Given the description of an element on the screen output the (x, y) to click on. 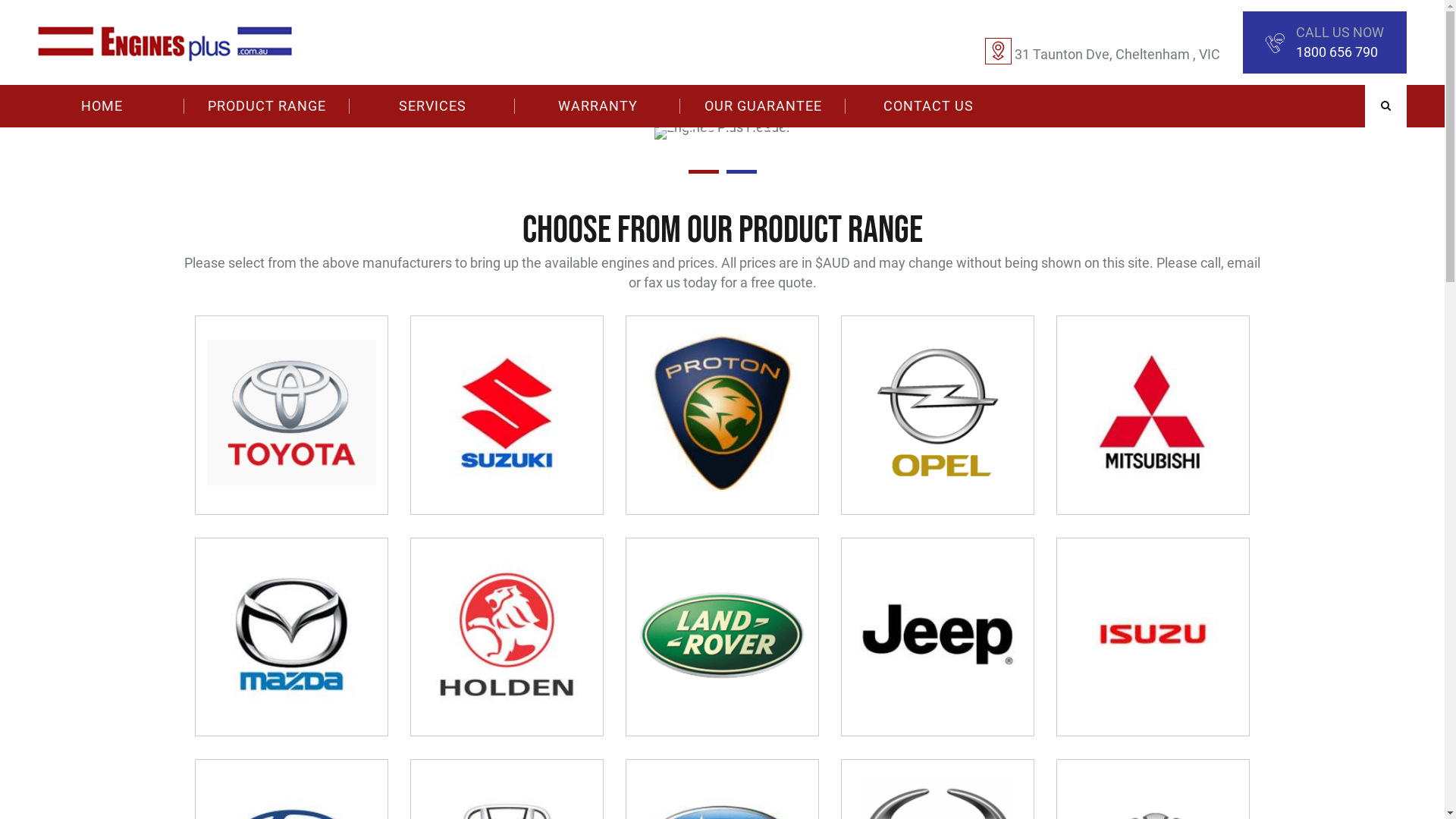
CONTACT US Element type: text (927, 105)
1800 656 790 Element type: text (1336, 51)
SERVICES Element type: text (431, 105)
HOME Element type: text (101, 105)
Skip to content Element type: text (0, 0)
PRODUCT RANGE Element type: text (266, 105)
OUR GUARANTEE Element type: text (762, 105)
WARRANTY Element type: text (597, 105)
